Given the description of an element on the screen output the (x, y) to click on. 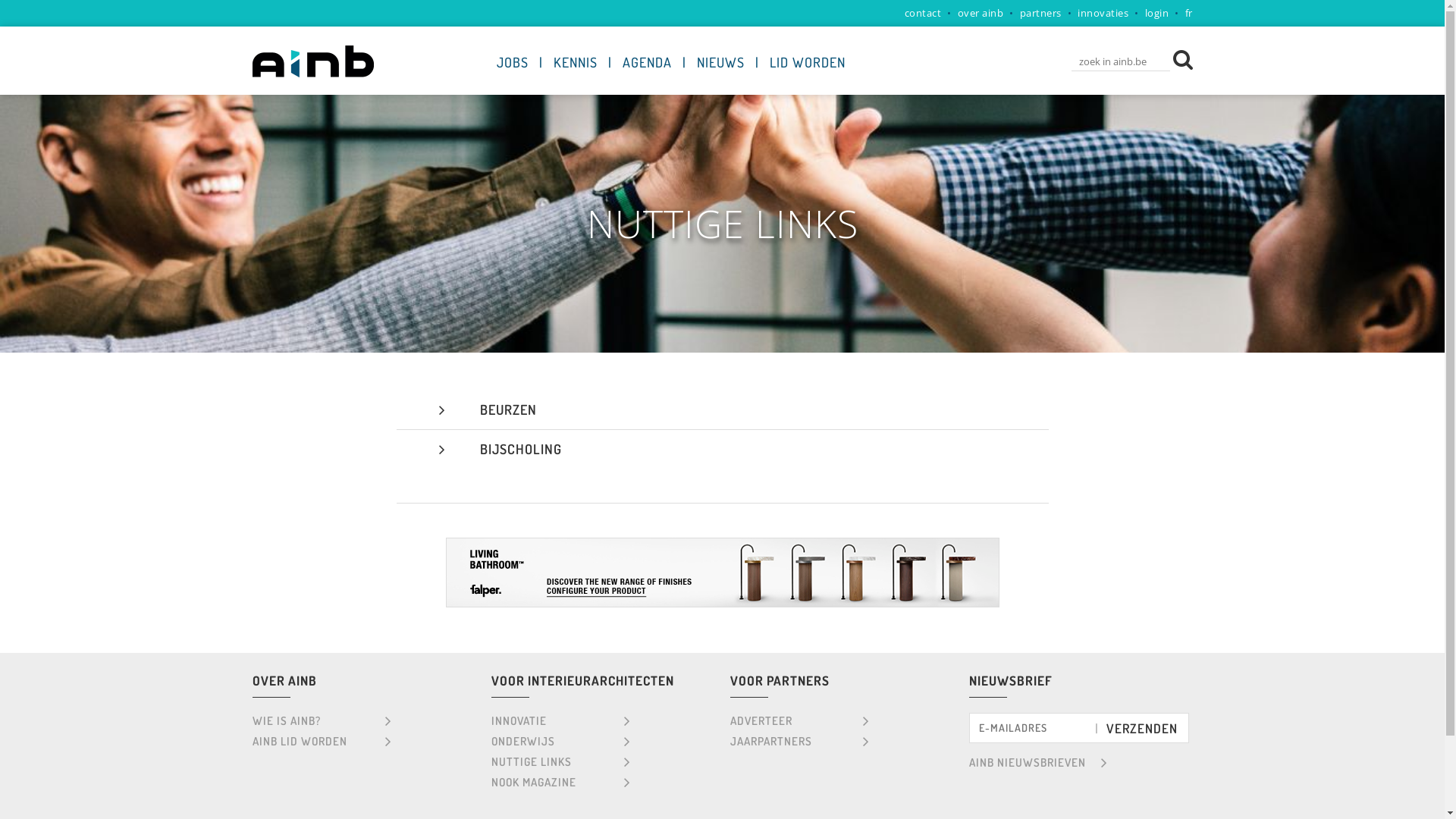
ADVERTEER Element type: text (799, 719)
LID WORDEN Element type: text (806, 61)
AINB NIEUWSBRIEVEN Element type: text (1038, 760)
innovaties Element type: text (1102, 12)
partners Element type: text (1039, 12)
AINB LID WORDEN Element type: text (321, 739)
Zoek op website Element type: hover (1182, 57)
AiNB, de Associatie van Interieurarchitecten Element type: hover (312, 61)
ONDERWIJS Element type: text (560, 739)
JOBS Element type: text (511, 61)
AGENDA Element type: text (646, 61)
NIEUWS Element type: text (719, 61)
BEURZEN Element type: text (507, 408)
AiNB, de Associatie van Interieurarchitecten Element type: hover (312, 72)
login Element type: text (1157, 12)
fr Element type: text (1188, 12)
KENNIS Element type: text (575, 61)
NUTTIGE LINKS Element type: text (560, 760)
WIE IS AINB? Element type: text (321, 719)
BIJSCHOLING Element type: text (520, 447)
NOOK MAGAZINE Element type: text (560, 780)
|VERZENDEN Element type: text (1137, 727)
INNOVATIE Element type: text (560, 719)
JAARPARTNERS Element type: text (799, 739)
contact Element type: text (922, 12)
over ainb Element type: text (980, 12)
